Given the description of an element on the screen output the (x, y) to click on. 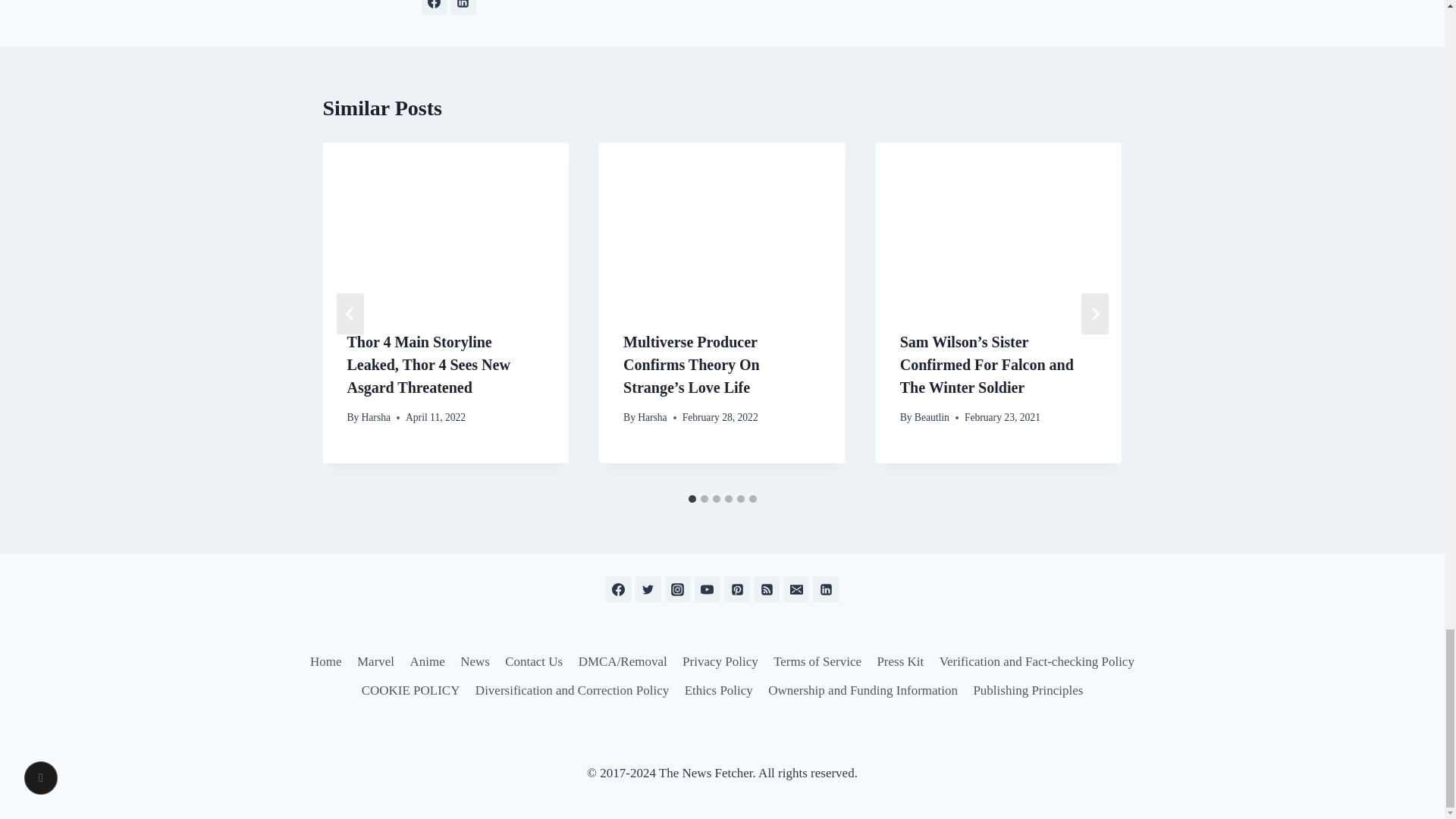
Follow Beautlin on Facebook (434, 7)
Follow Beautlin on Linkedin (462, 7)
